Given the description of an element on the screen output the (x, y) to click on. 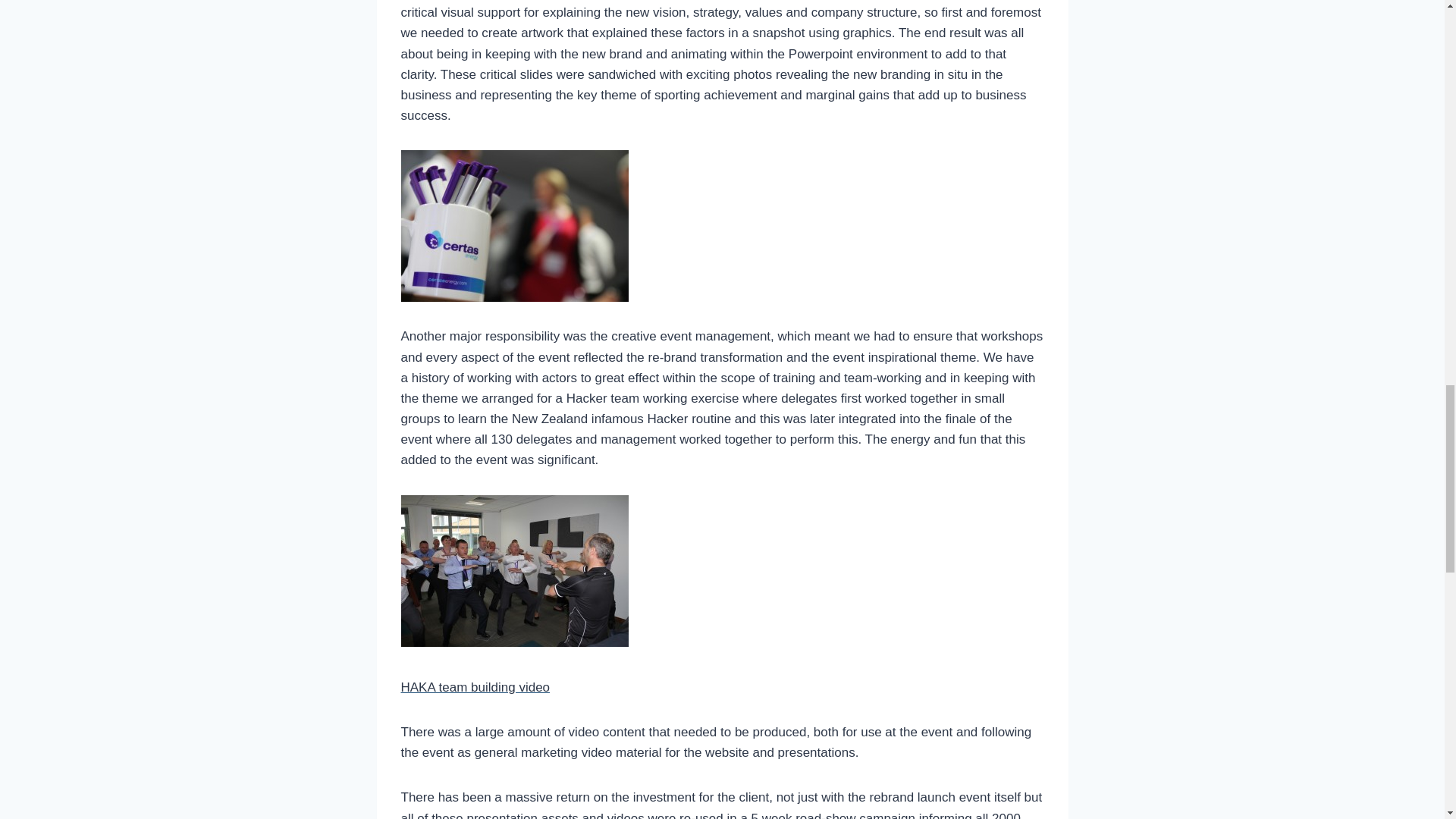
brand re-launch event company presentation (513, 225)
Company team building (513, 571)
